Given the description of an element on the screen output the (x, y) to click on. 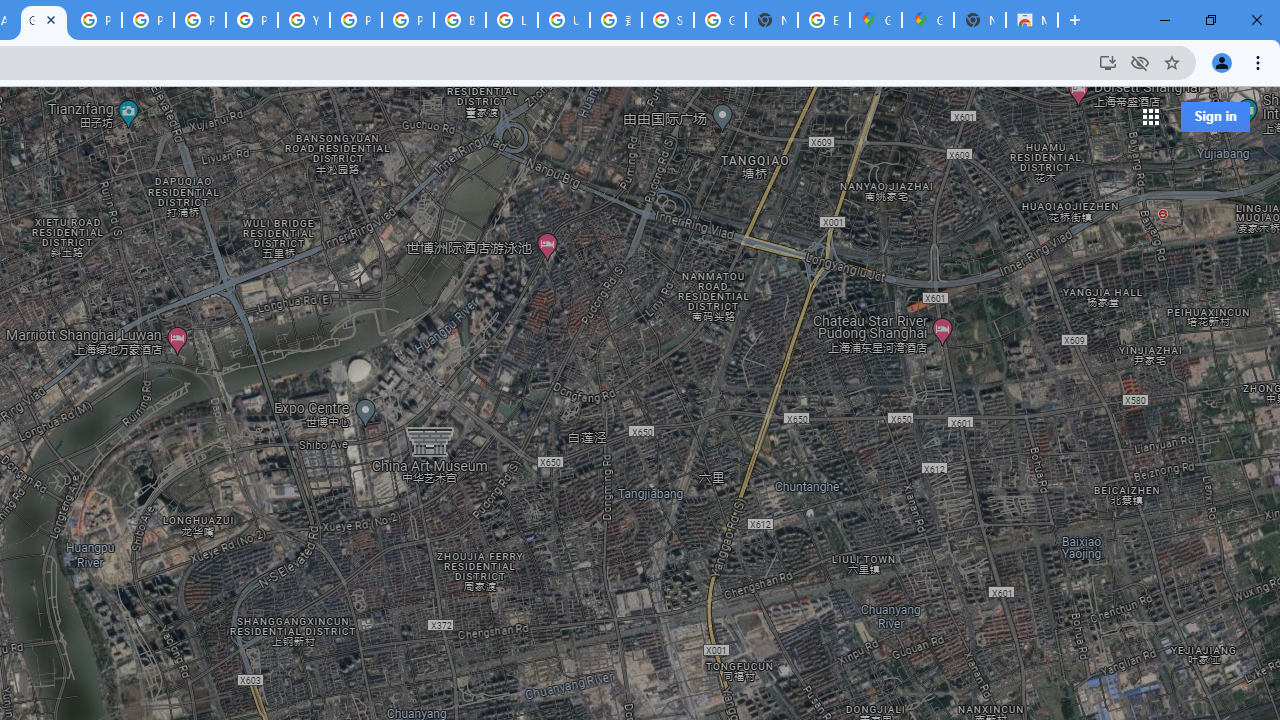
YouTube (303, 20)
Policy Accountability and Transparency - Transparency Center (95, 20)
Sign in - Google Accounts (667, 20)
Privacy Help Center - Policies Help (200, 20)
Install Google Maps (1107, 62)
Google Maps (927, 20)
Explore new street-level details - Google Maps Help (823, 20)
